Given the description of an element on the screen output the (x, y) to click on. 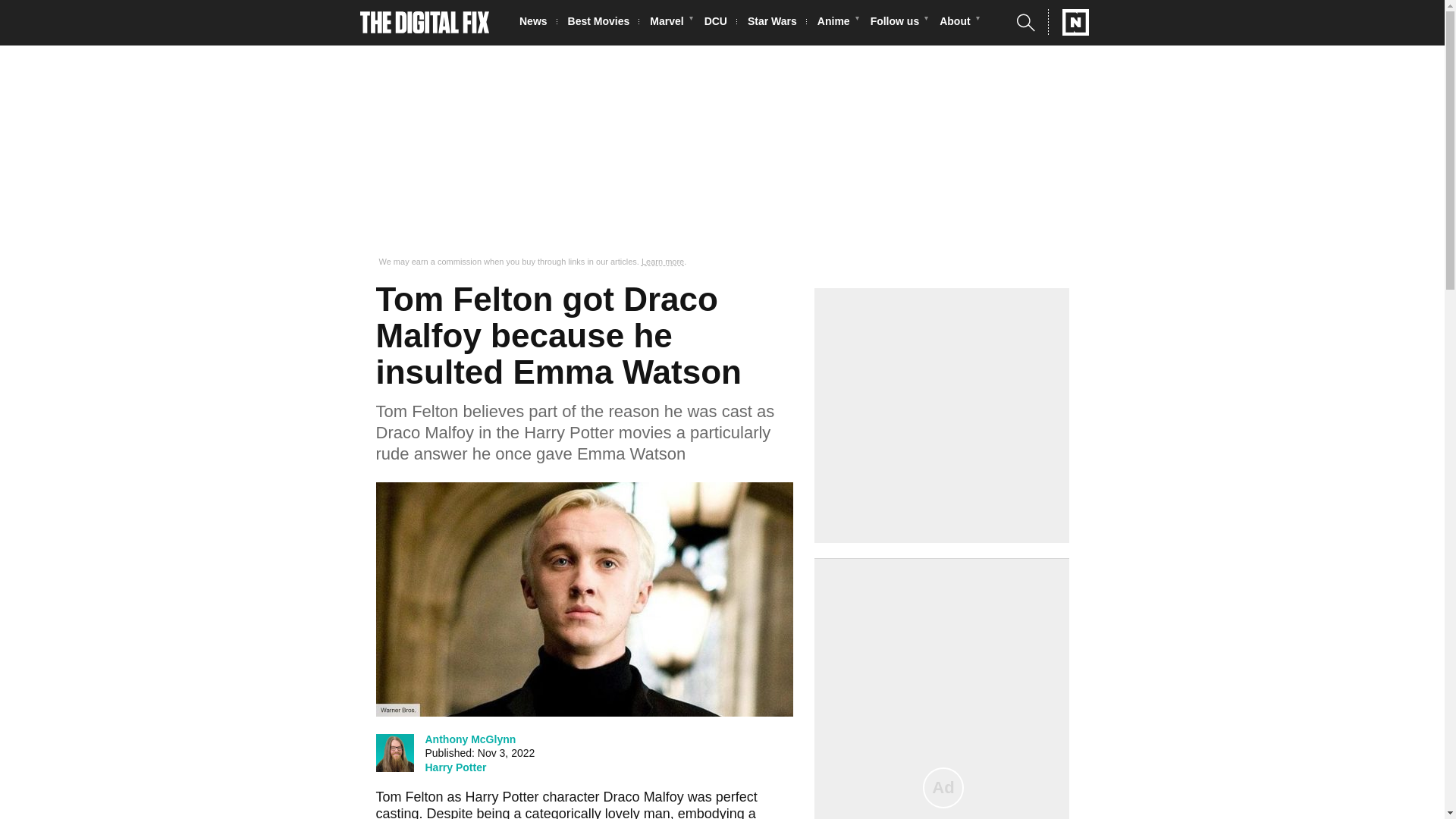
Learn more (663, 261)
Follow us (899, 22)
The Digital Fix (424, 22)
Harry Potter character (532, 796)
Harry Potter (455, 767)
Marvel (671, 22)
Anthony McGlynn (470, 739)
Network N Media (1068, 22)
Star Wars News (777, 22)
Marvel Cinematic Universe News (671, 22)
